Given the description of an element on the screen output the (x, y) to click on. 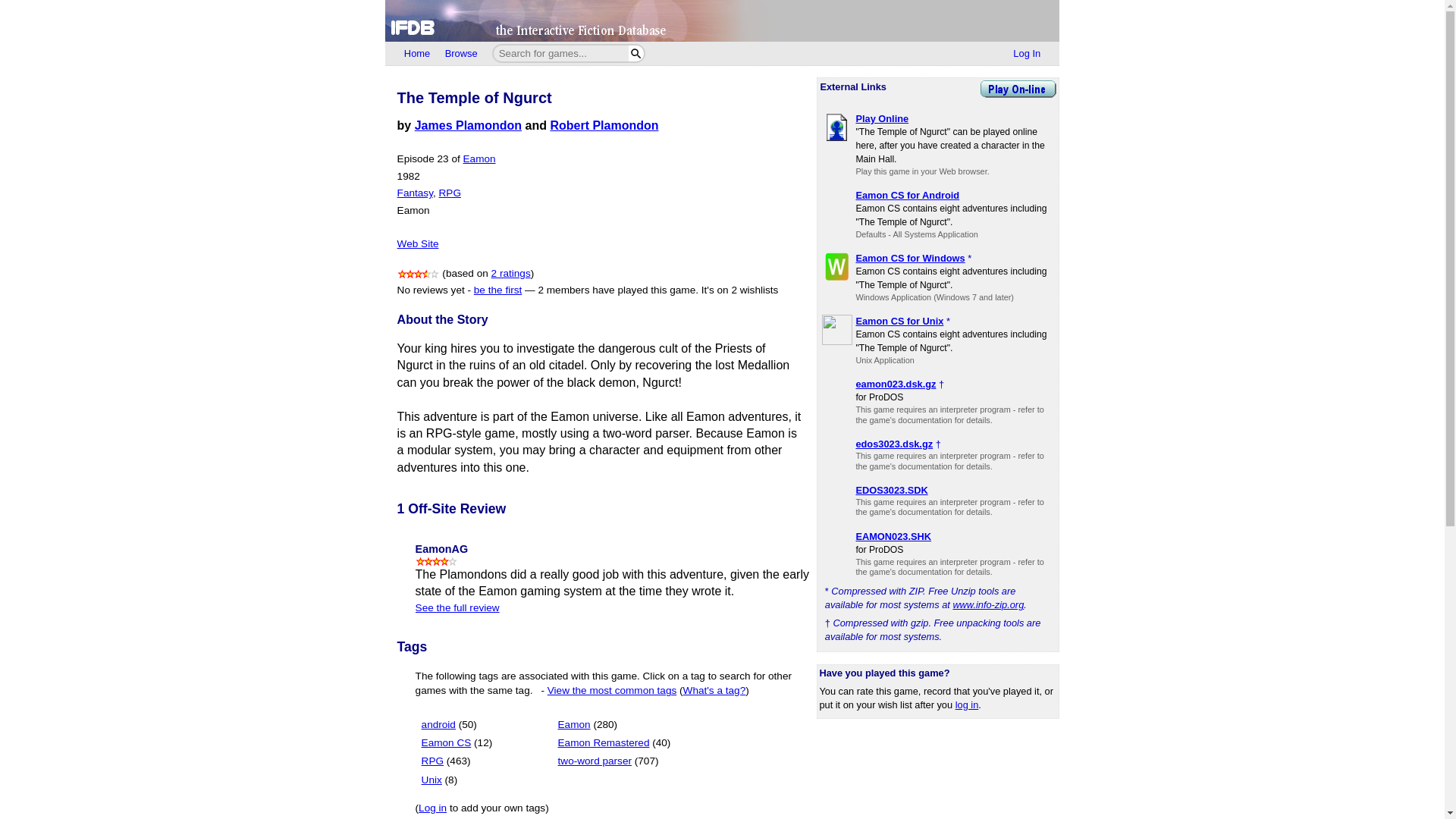
Eamon CS for Windows (909, 257)
Browse (461, 53)
edos3023.dsk.gz (894, 443)
Eamon Remastered (603, 742)
EDOS3023.SDK (891, 490)
50 games have this tag (467, 724)
Fantasy (414, 193)
View all ratings and reviews for this game (511, 273)
40 games have this tag (660, 742)
View the most common tags (612, 690)
